Given the description of an element on the screen output the (x, y) to click on. 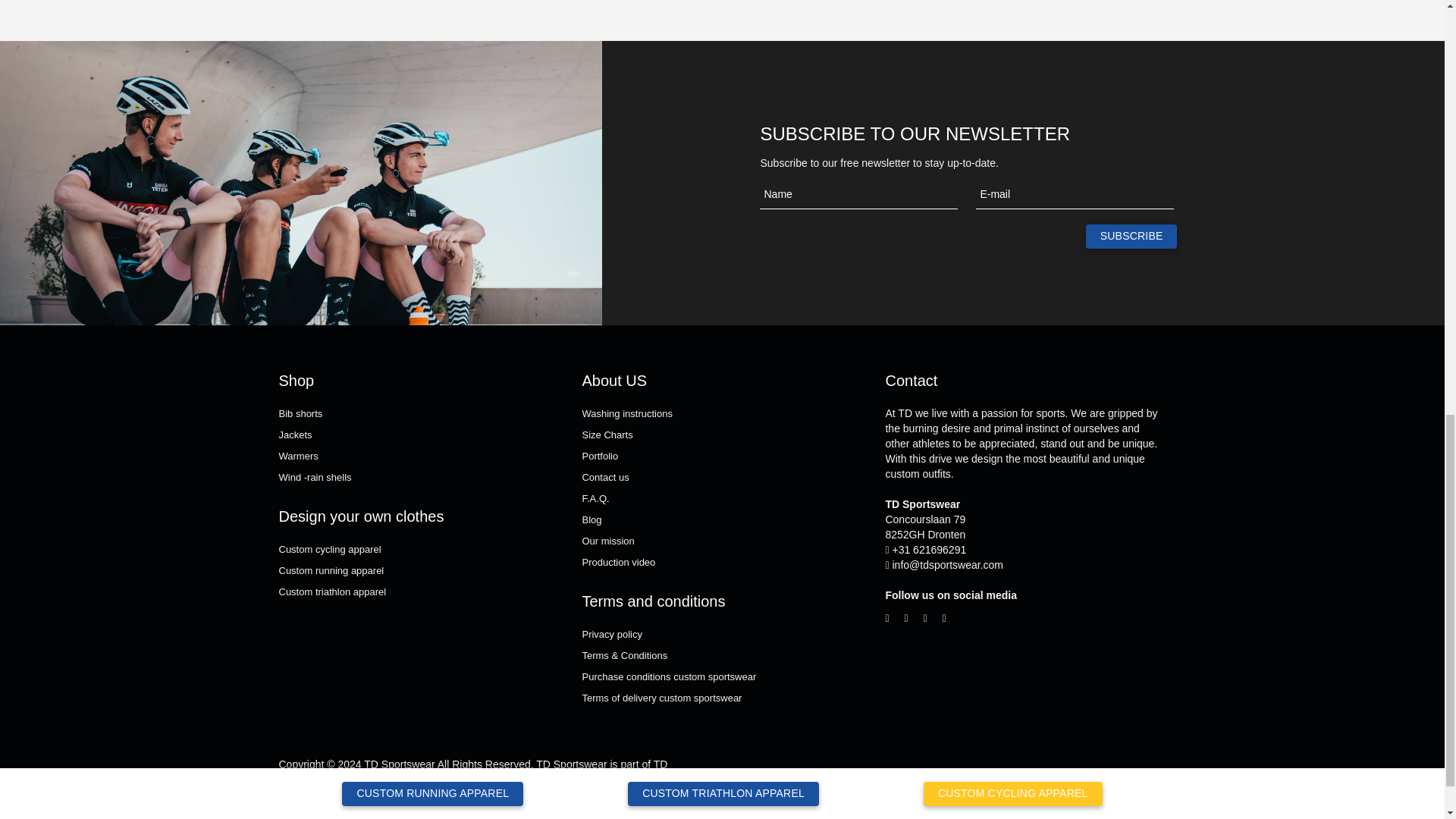
Subscribe (1131, 236)
